Given the description of an element on the screen output the (x, y) to click on. 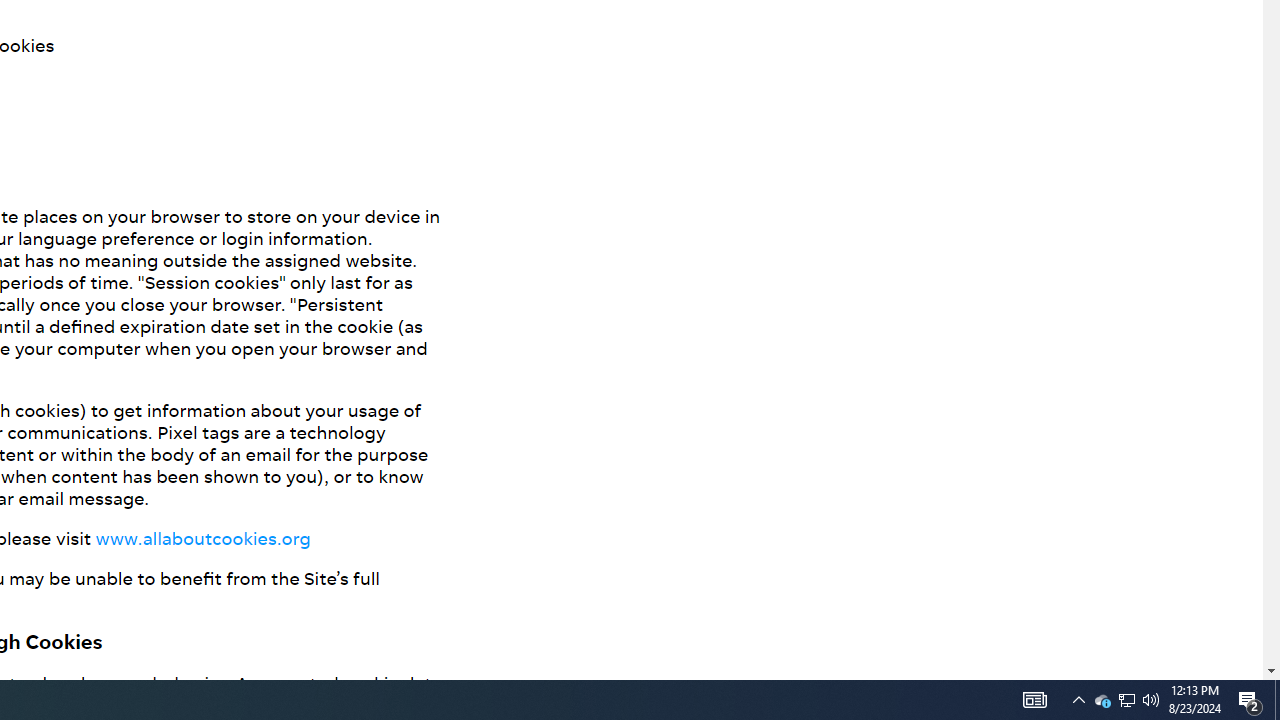
www.allaboutcookies.org (202, 537)
